Given the description of an element on the screen output the (x, y) to click on. 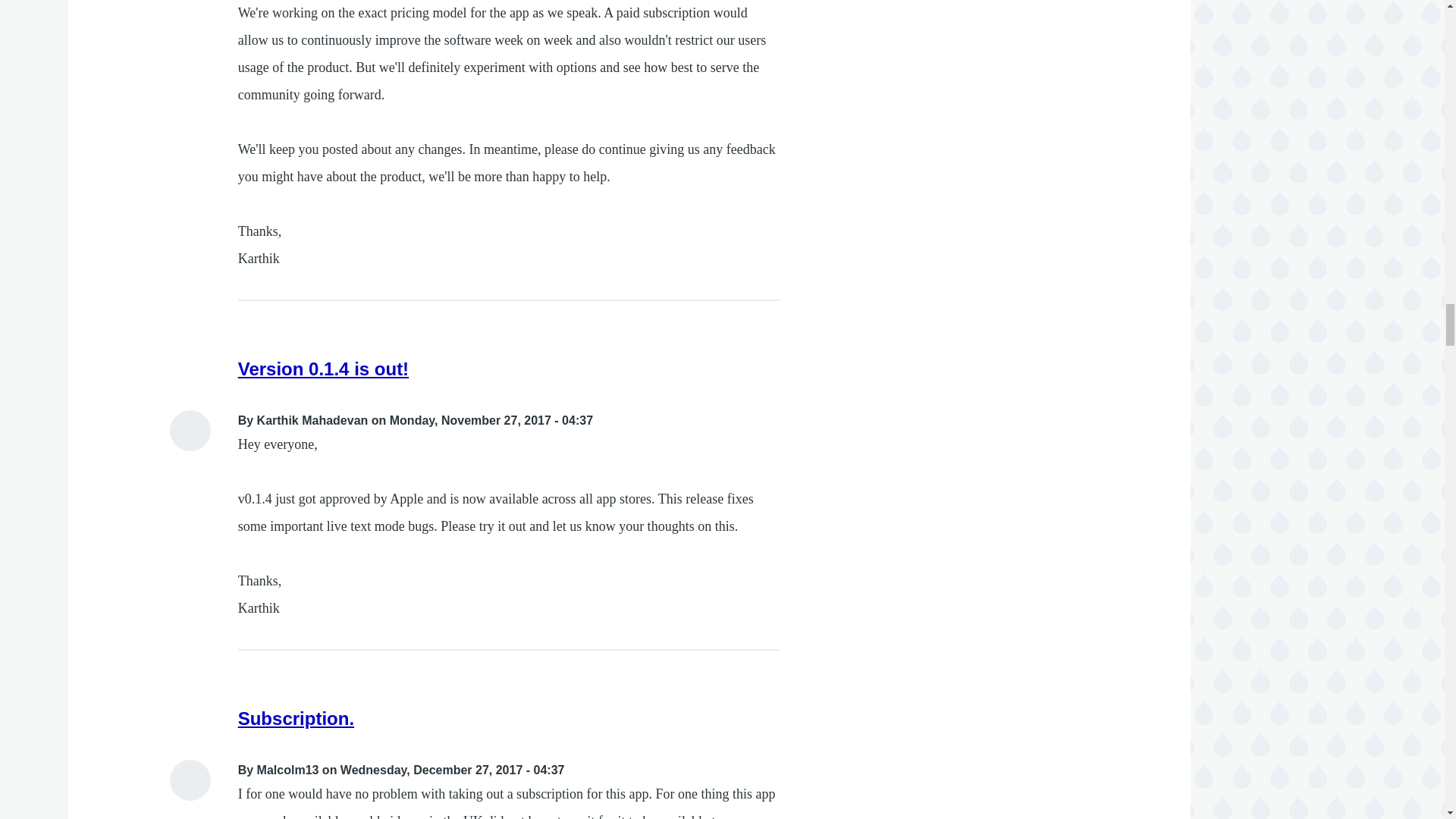
Subscription. (295, 718)
Version 0.1.4 is out! (323, 368)
